Given the description of an element on the screen output the (x, y) to click on. 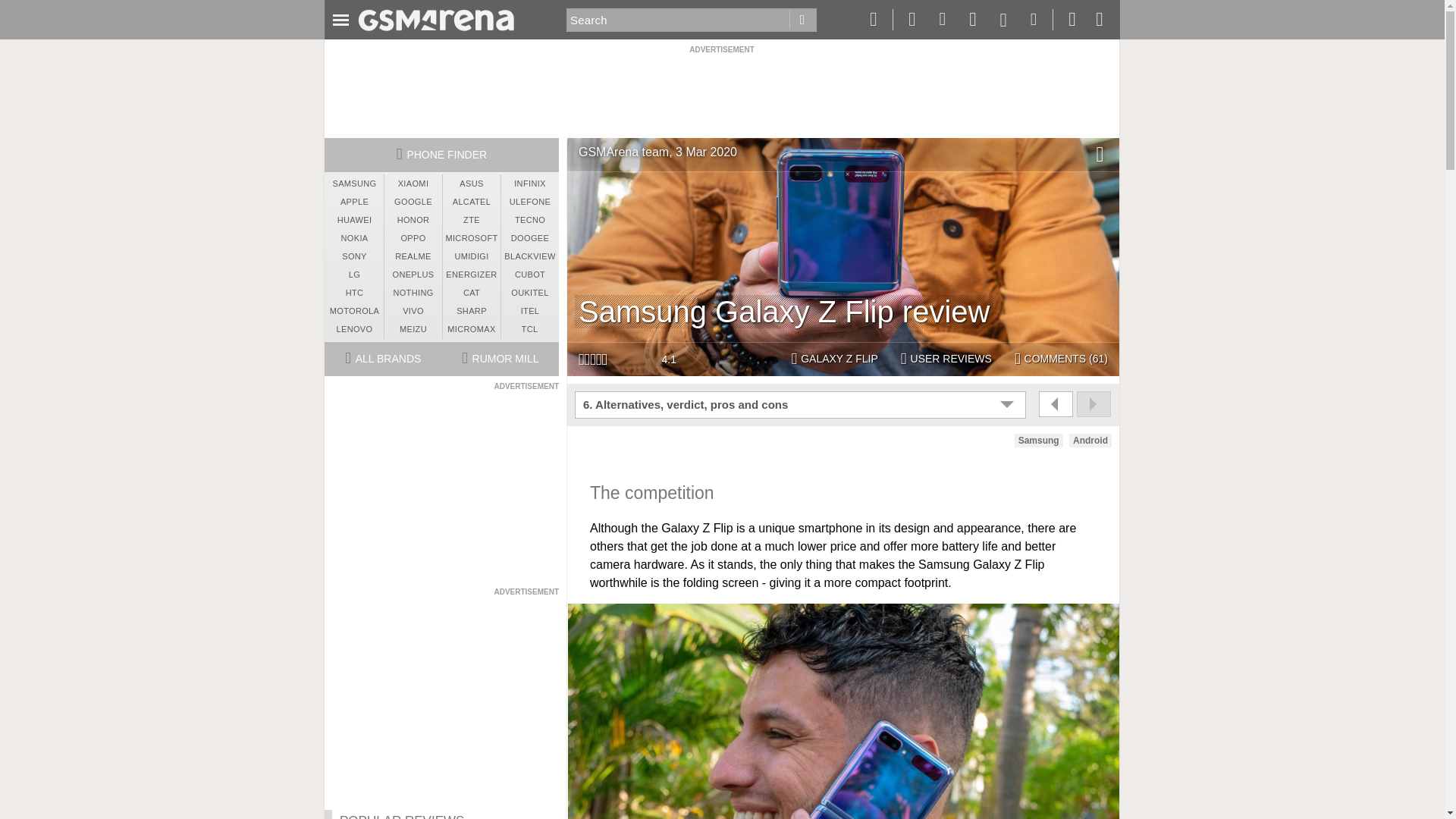
Go (802, 19)
6. Alternatives, verdict, pros and cons  (802, 404)
Next page (1093, 403)
USER REVIEWS (946, 359)
6. Alternatives, verdict, pros and cons (802, 404)
GALAXY Z FLIP (833, 359)
Go (802, 19)
Previous page (1056, 403)
